Given the description of an element on the screen output the (x, y) to click on. 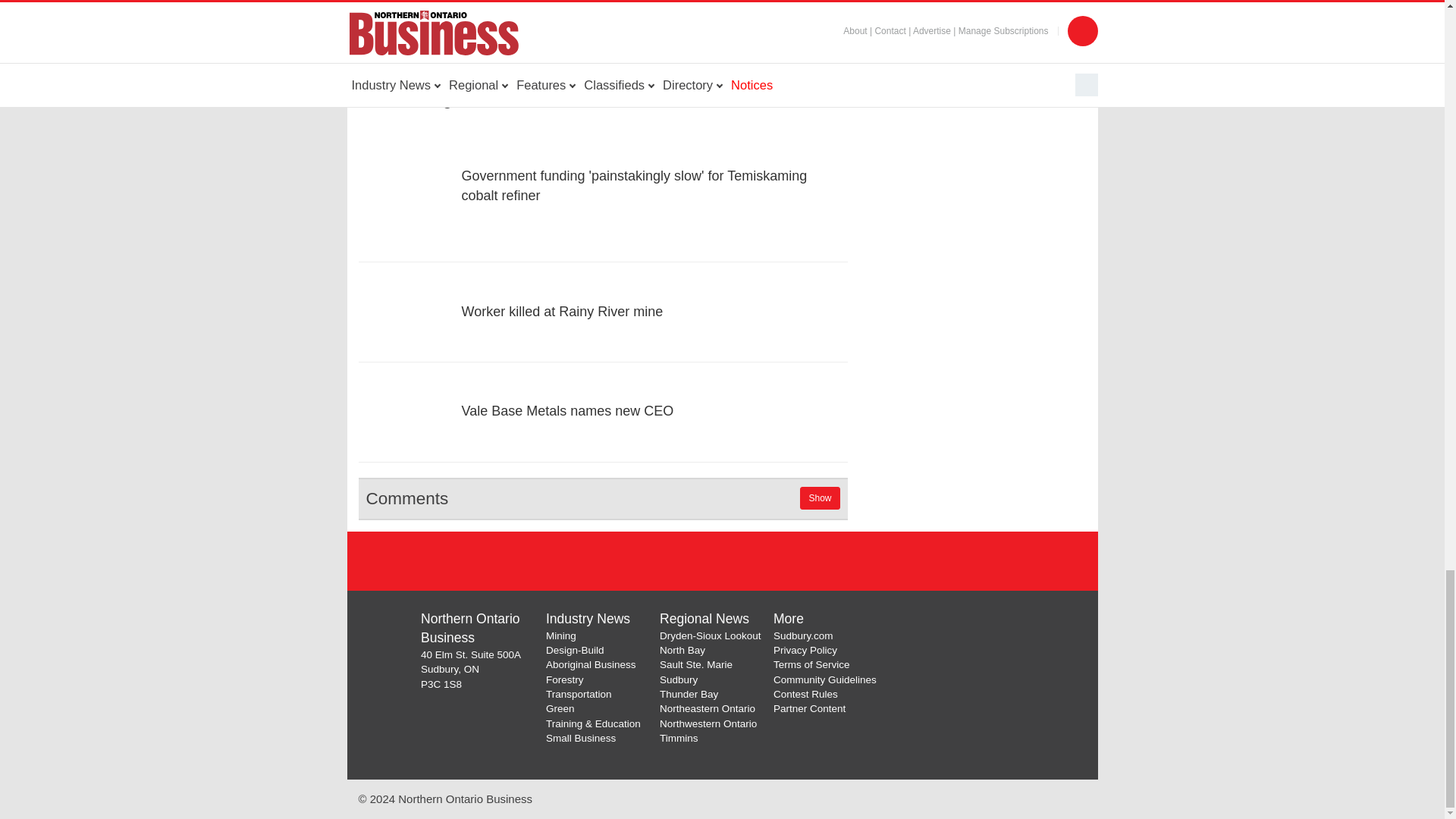
RSS (780, 559)
X (702, 559)
Facebook (663, 559)
LinkedIn (741, 559)
